Given the description of an element on the screen output the (x, y) to click on. 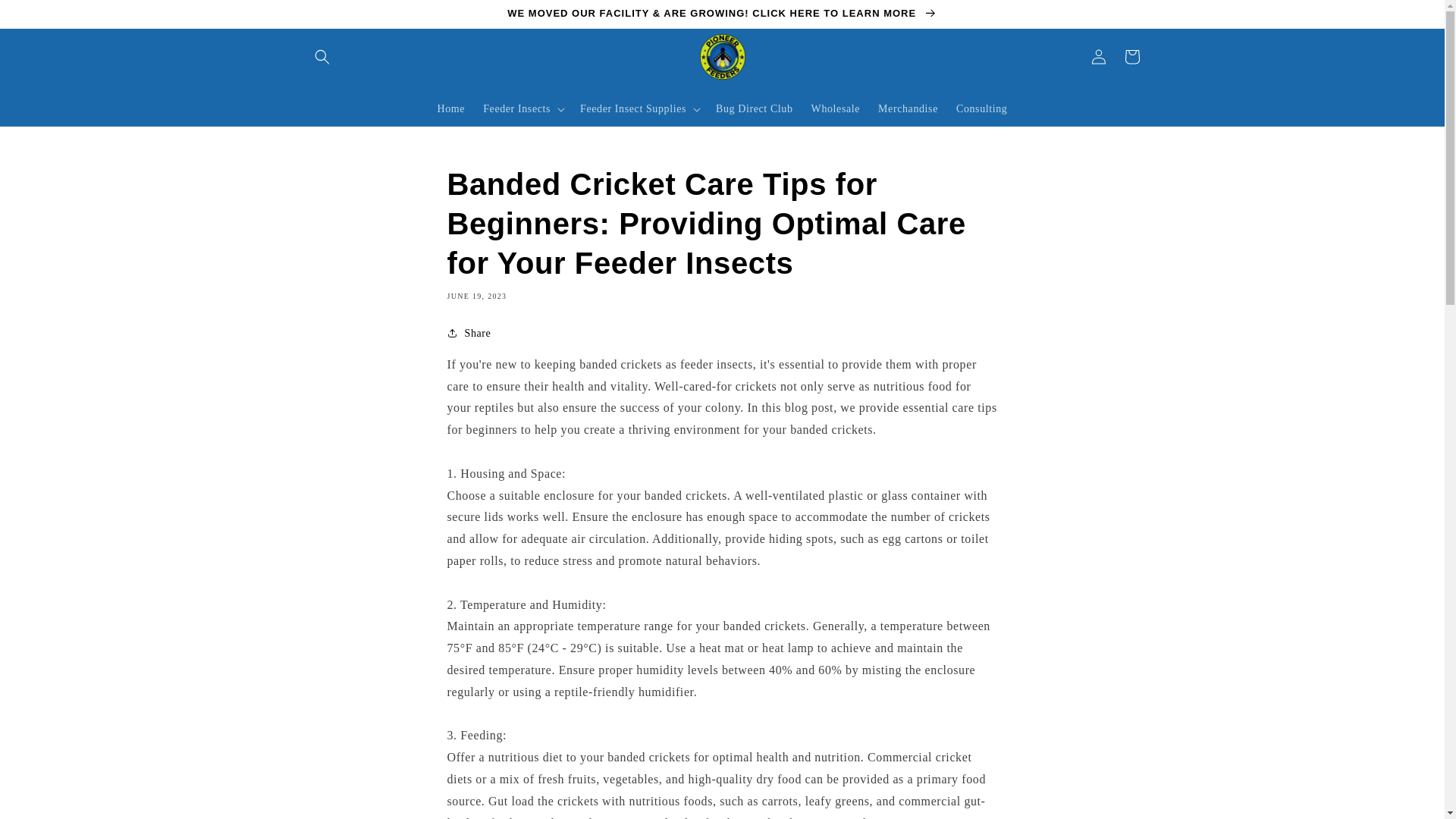
Skip to content (45, 17)
Home (451, 109)
Bug Direct Club (754, 109)
Wholesale (835, 109)
